Given the description of an element on the screen output the (x, y) to click on. 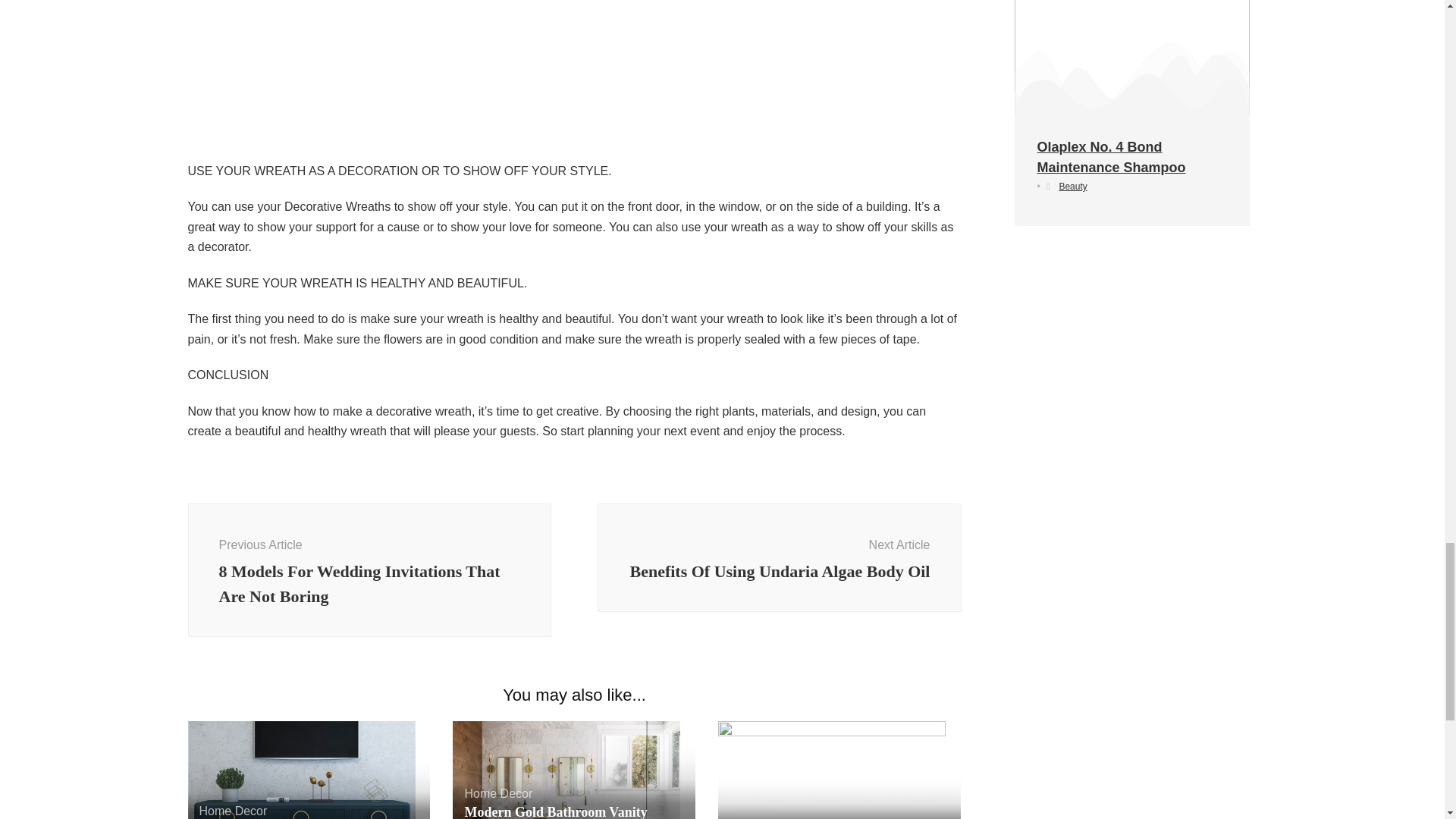
Home Decor (498, 793)
Home Decor (232, 810)
